Given the description of an element on the screen output the (x, y) to click on. 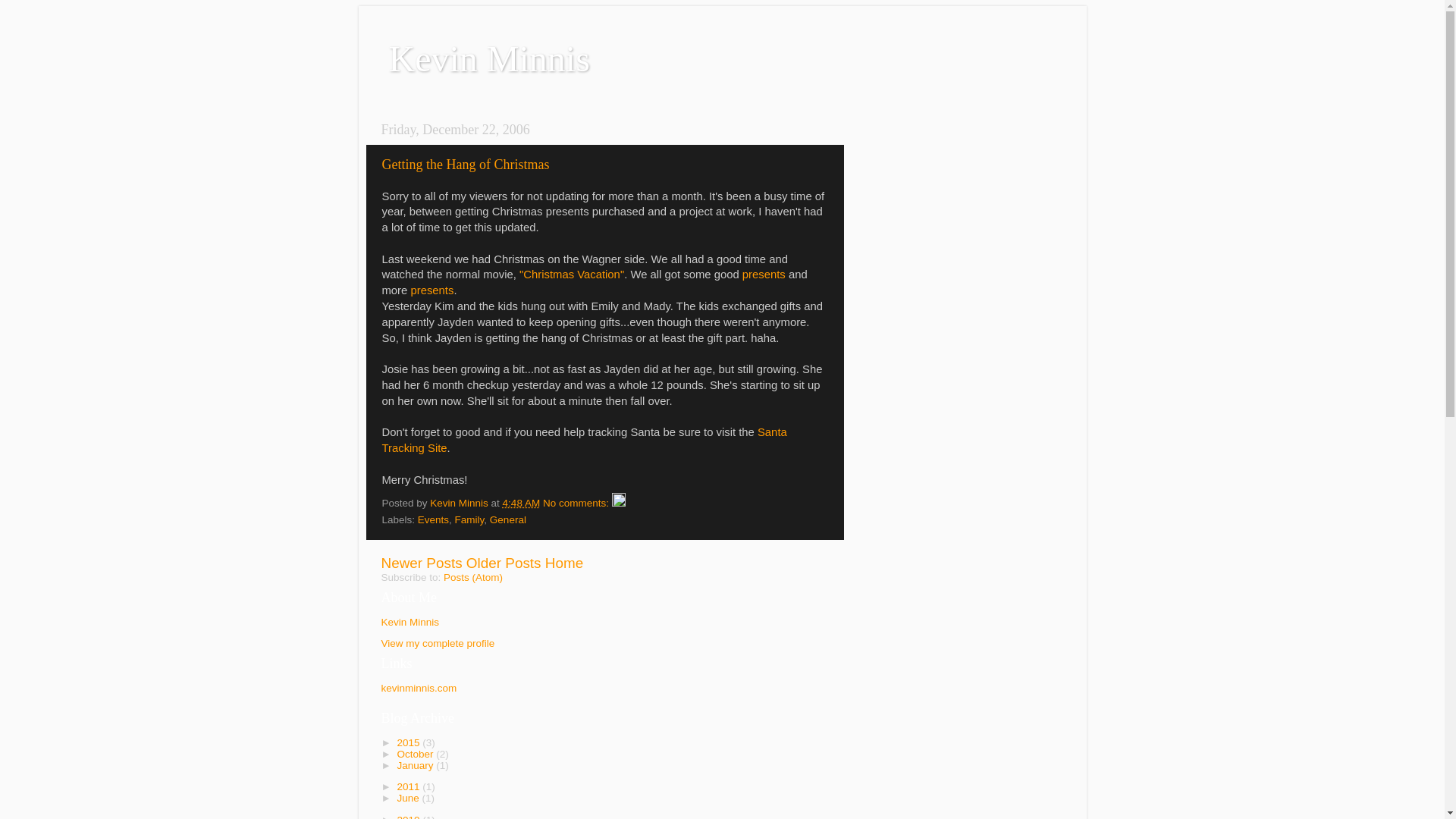
kevinminnis.com (418, 687)
June (409, 797)
October (415, 754)
Santa Tracking Site (584, 439)
Kevin Minnis (409, 622)
presents (764, 274)
Edit Post (618, 502)
author profile (459, 502)
Events (432, 519)
General (507, 519)
Older Posts (503, 562)
permanent link (521, 502)
Family (469, 519)
"Christmas Vacation" (571, 274)
Getting the Hang of Christmas (465, 164)
